Given the description of an element on the screen output the (x, y) to click on. 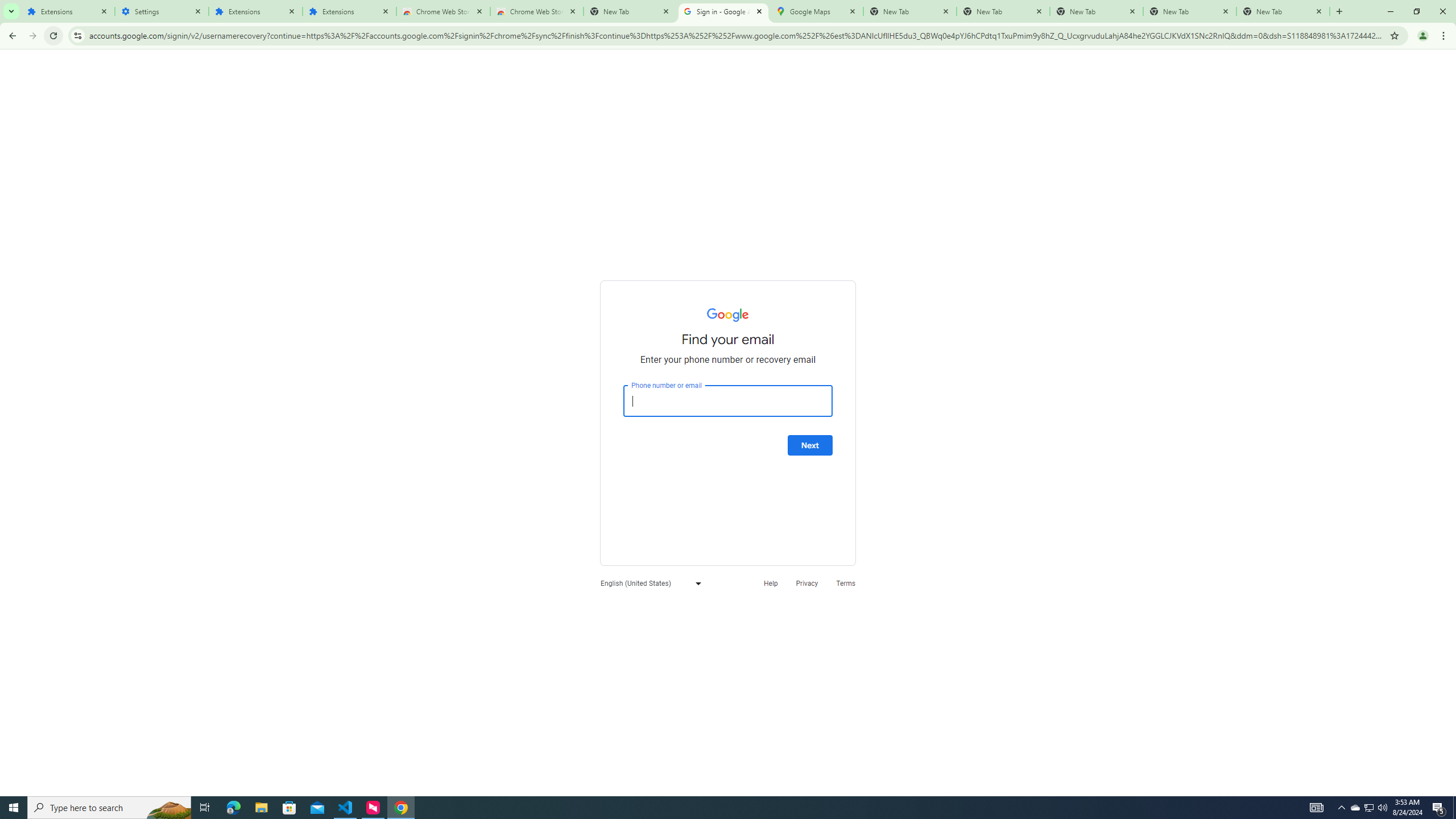
Chrome Web Store (443, 11)
Help (770, 583)
New Tab (629, 11)
Privacy (806, 583)
Phone number or email (727, 401)
Google Maps (815, 11)
